Given the description of an element on the screen output the (x, y) to click on. 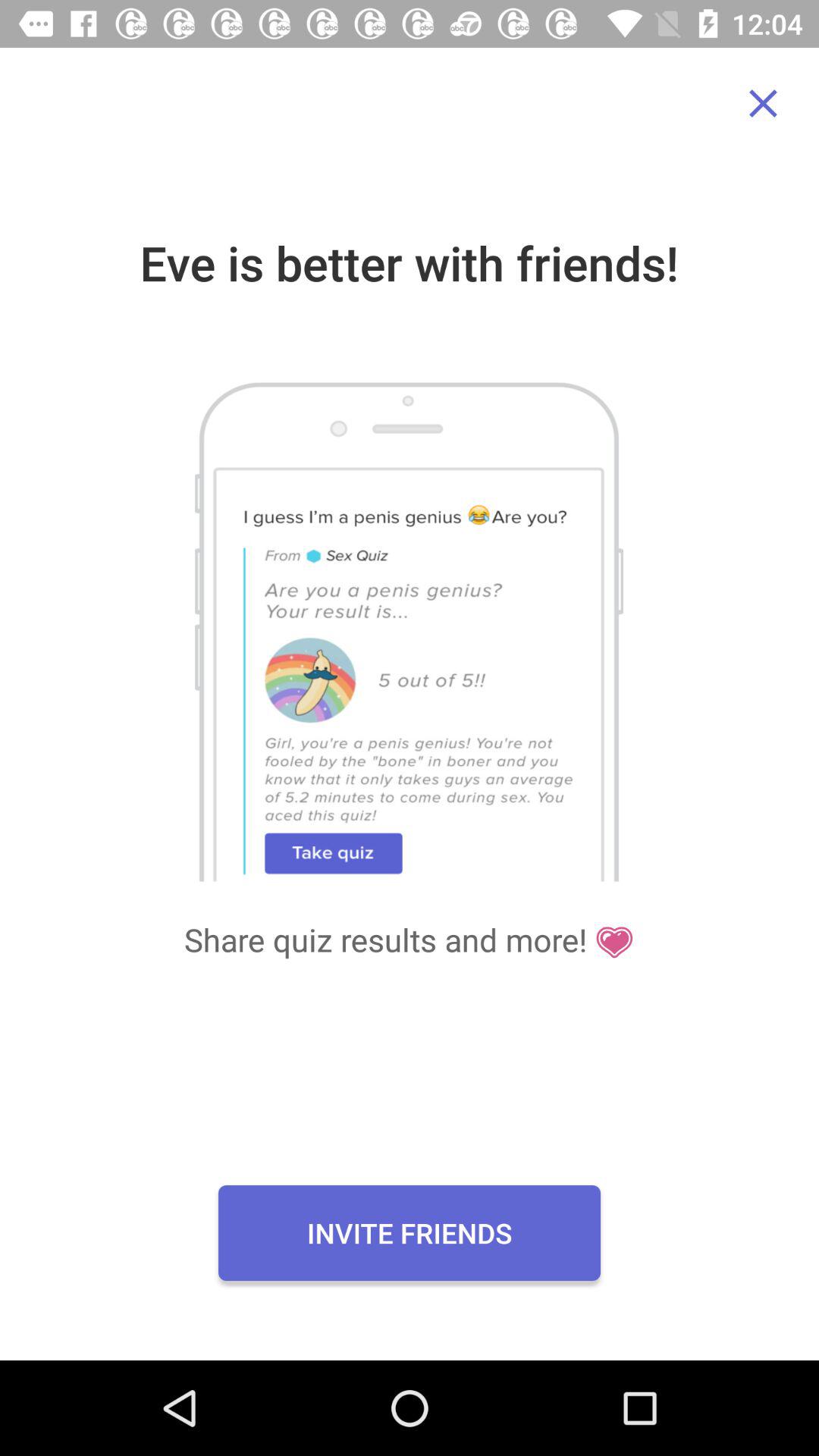
select invite friends item (409, 1232)
